Given the description of an element on the screen output the (x, y) to click on. 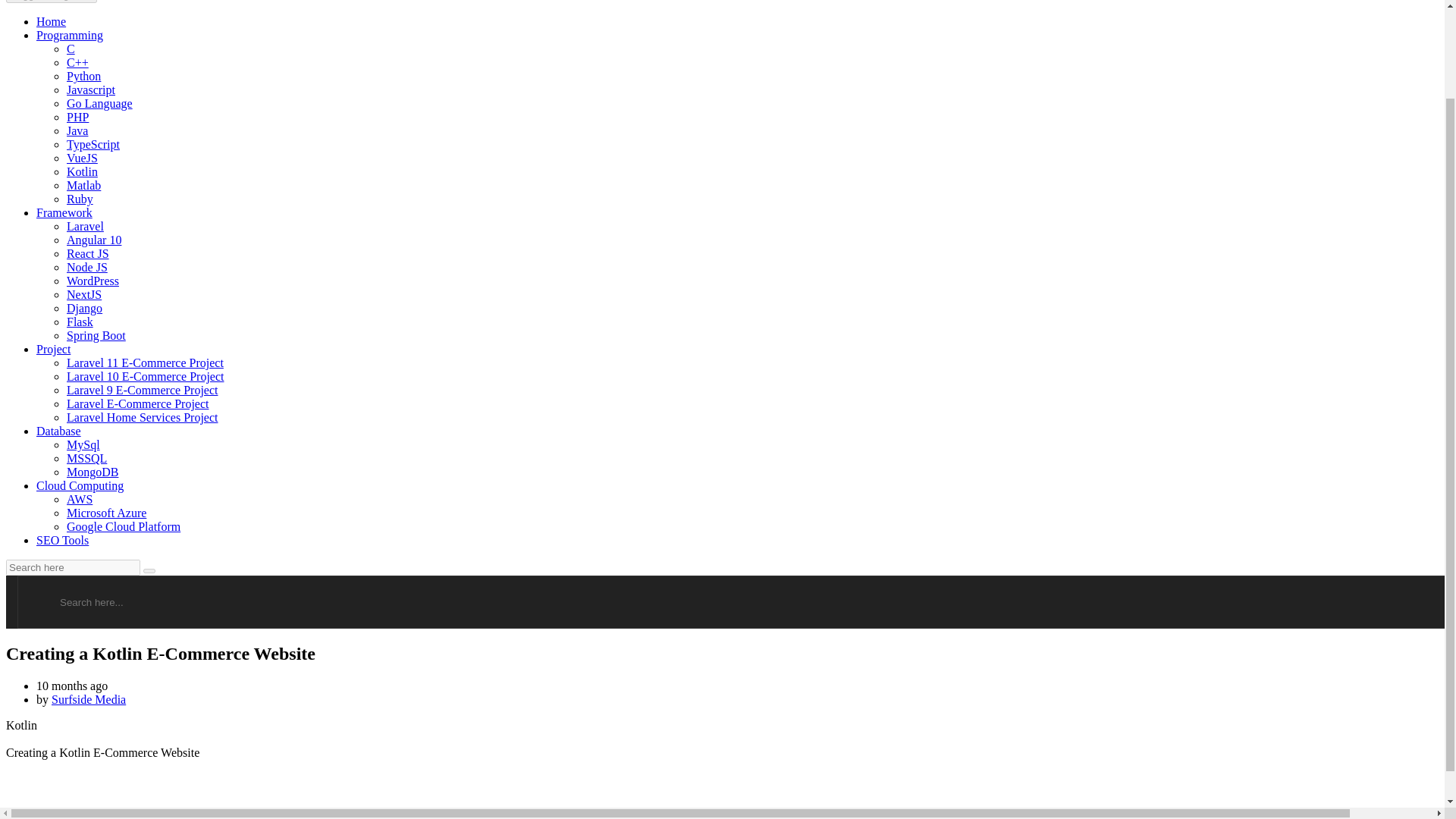
Go Language (99, 103)
Laravel 9 E-Commerce Project (141, 390)
Python (83, 75)
Framework (64, 212)
Project (52, 349)
MSSQL (86, 458)
Kotlin (81, 171)
Angular 10 (93, 239)
WordPress (92, 280)
Ruby (79, 198)
